Given the description of an element on the screen output the (x, y) to click on. 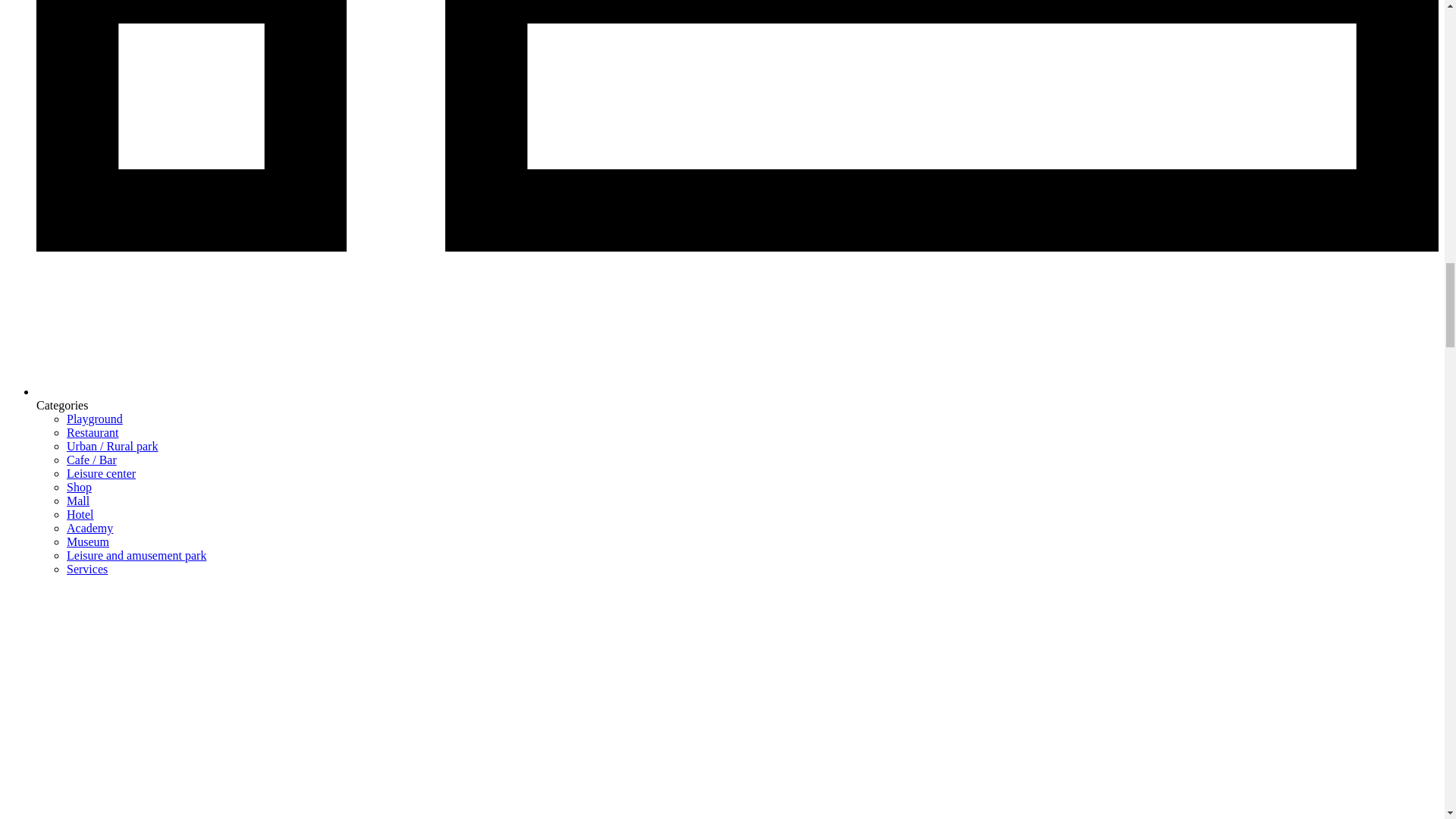
Leisure and amusement park (136, 554)
Playground (94, 418)
Academy (89, 527)
Mall (77, 500)
Shop (78, 486)
Hotel (80, 513)
Museum (87, 541)
Leisure center (100, 472)
Restaurant (91, 431)
Services (86, 568)
